Given the description of an element on the screen output the (x, y) to click on. 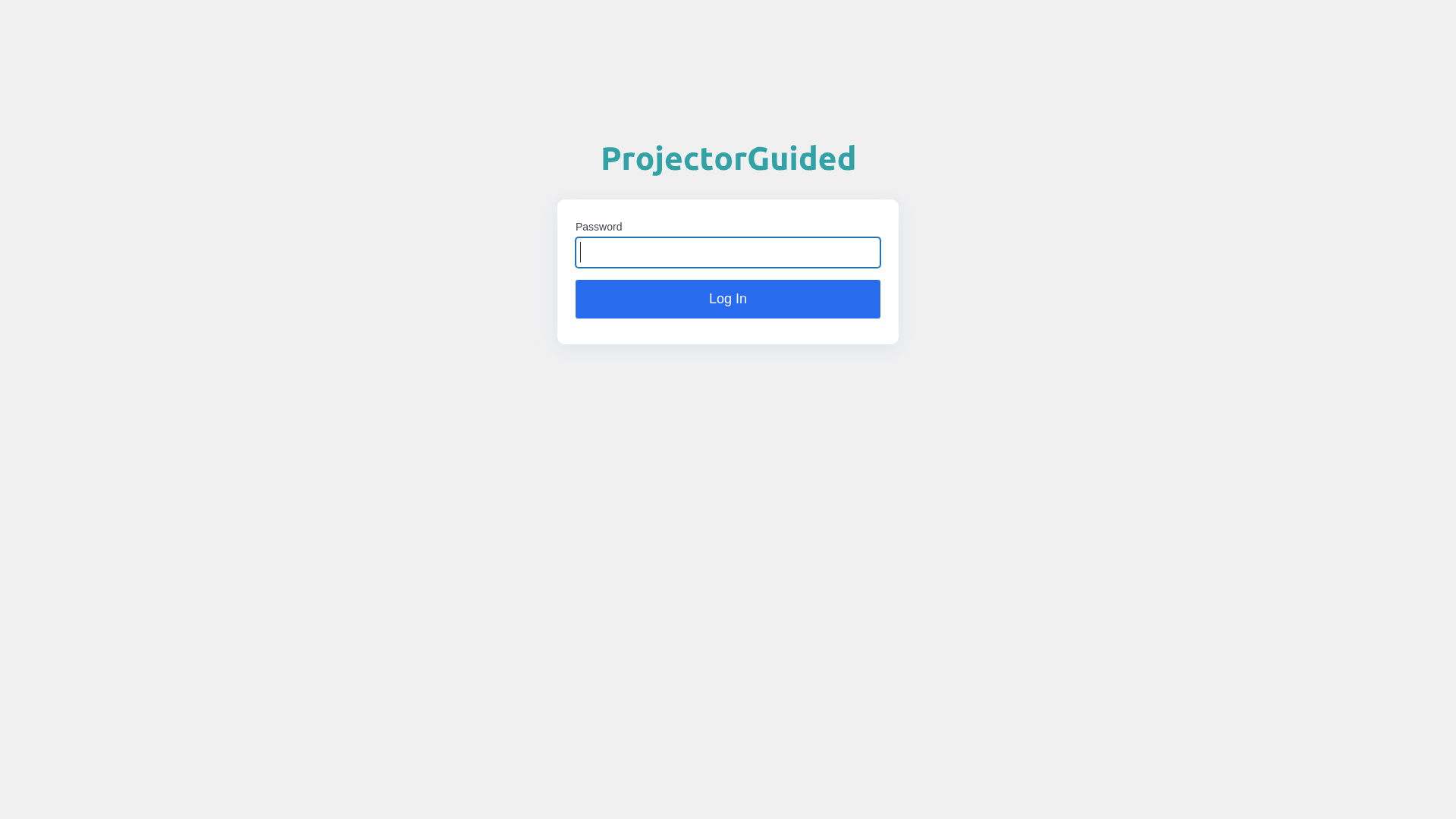
ProjectorGuided Element type: text (727, 148)
Log In Element type: text (727, 299)
